Given the description of an element on the screen output the (x, y) to click on. 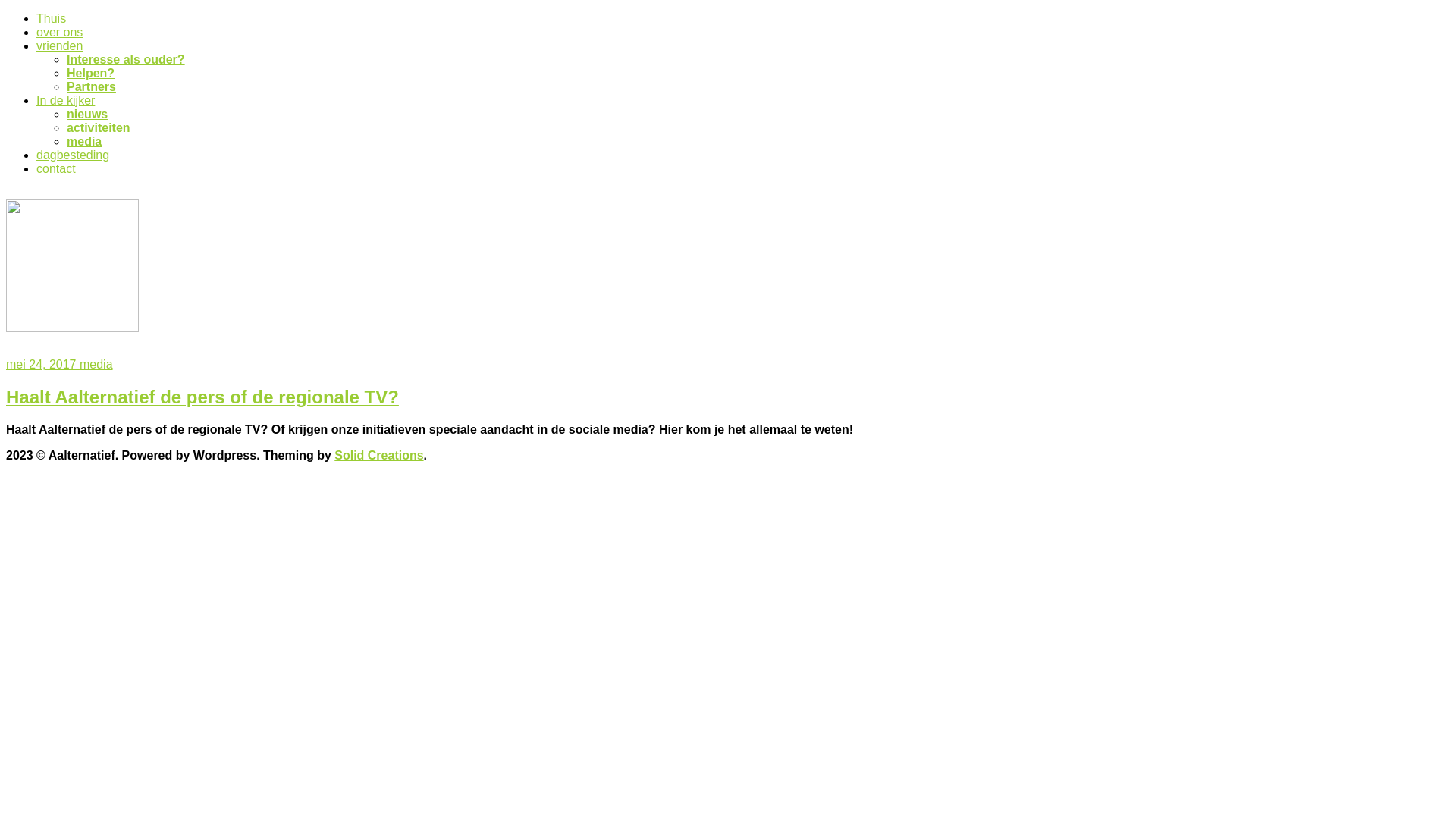
Haalt Aalternatief de pers of de regionale TV? Element type: text (202, 396)
Partners Element type: text (91, 86)
dagbesteding Element type: text (72, 154)
Interesse als ouder? Element type: text (125, 59)
Skip to content Element type: text (5, 11)
mei 24, 2017 Element type: text (42, 363)
media Element type: text (83, 140)
activiteiten Element type: text (98, 127)
Helpen? Element type: text (90, 72)
Thuis Element type: text (50, 18)
media Element type: text (95, 363)
Solid Creations Element type: text (378, 454)
In de kijker Element type: text (65, 100)
over ons Element type: text (59, 31)
vrienden Element type: text (59, 45)
Home Element type: text (72, 327)
nieuws Element type: text (86, 113)
contact Element type: text (55, 168)
